Given the description of an element on the screen output the (x, y) to click on. 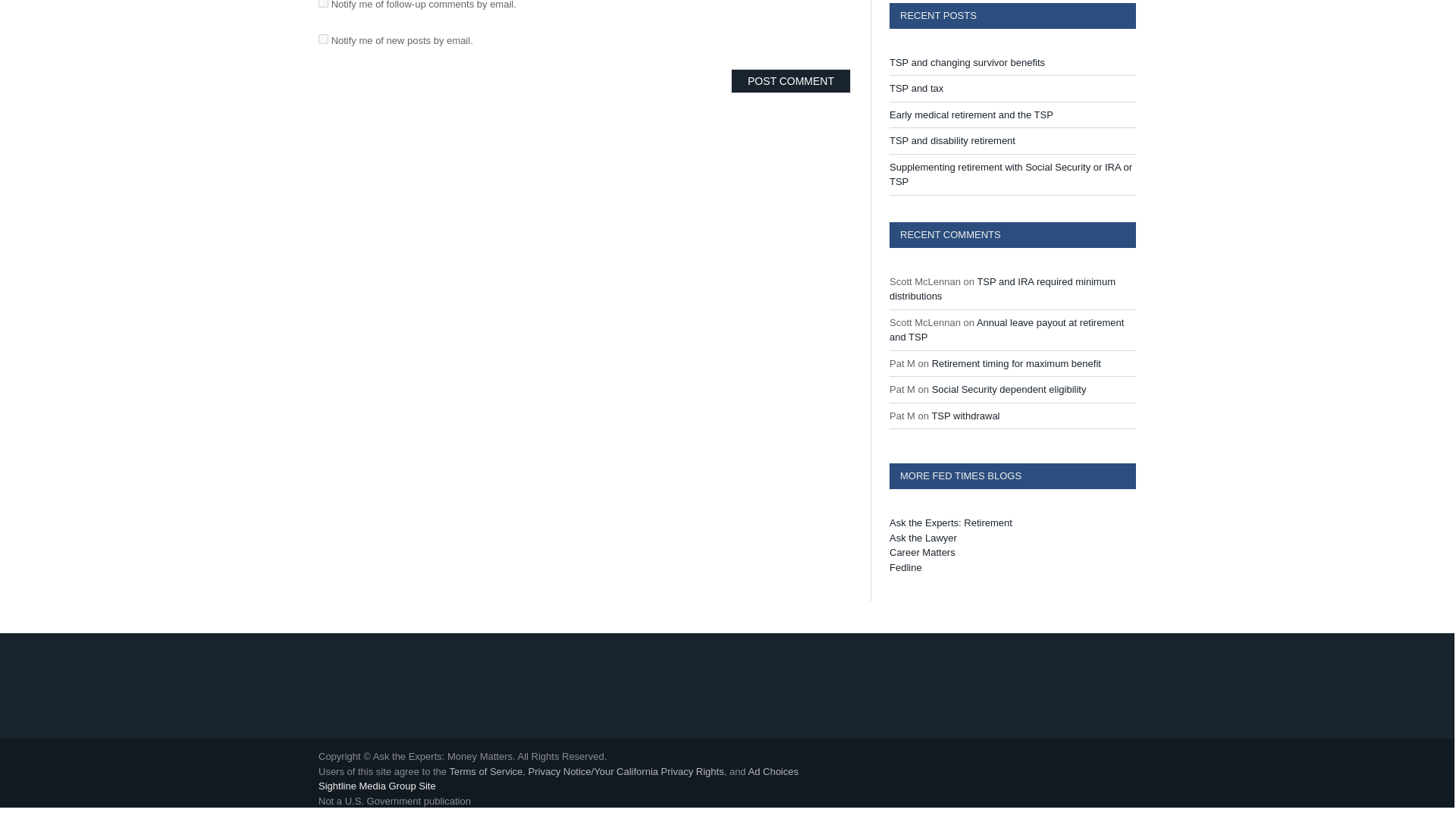
Post Comment (790, 80)
subscribe (323, 3)
subscribe (323, 39)
